Given the description of an element on the screen output the (x, y) to click on. 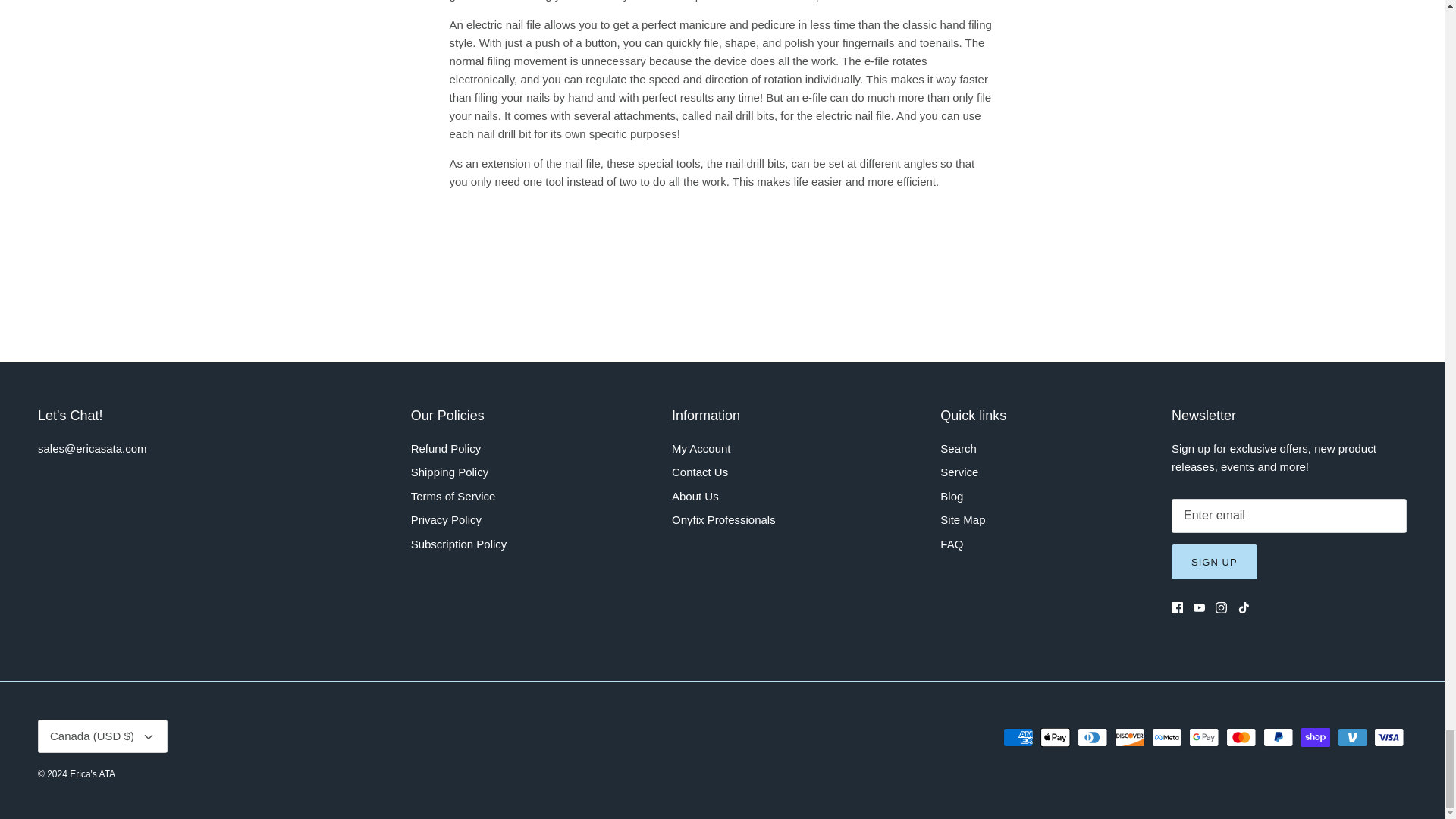
Diners Club (1092, 737)
Youtube (1199, 607)
American Express (1018, 737)
Meta Pay (1166, 737)
Discover (1129, 737)
Facebook (1177, 607)
Instagram (1221, 607)
Mastercard (1240, 737)
Apple Pay (1055, 737)
Google Pay (1203, 737)
